Given the description of an element on the screen output the (x, y) to click on. 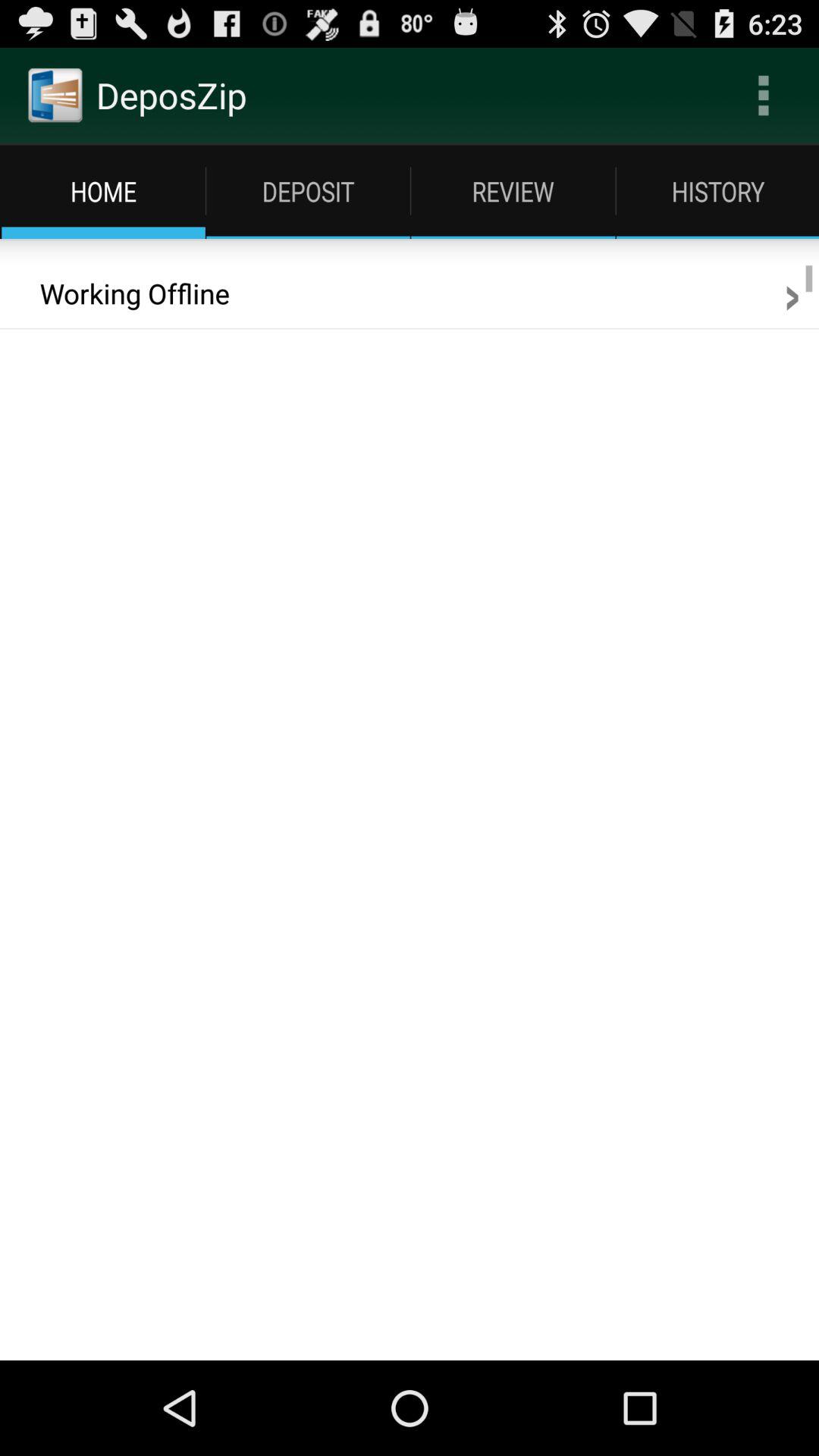
turn on item to the right of the working offline app (792, 293)
